Given the description of an element on the screen output the (x, y) to click on. 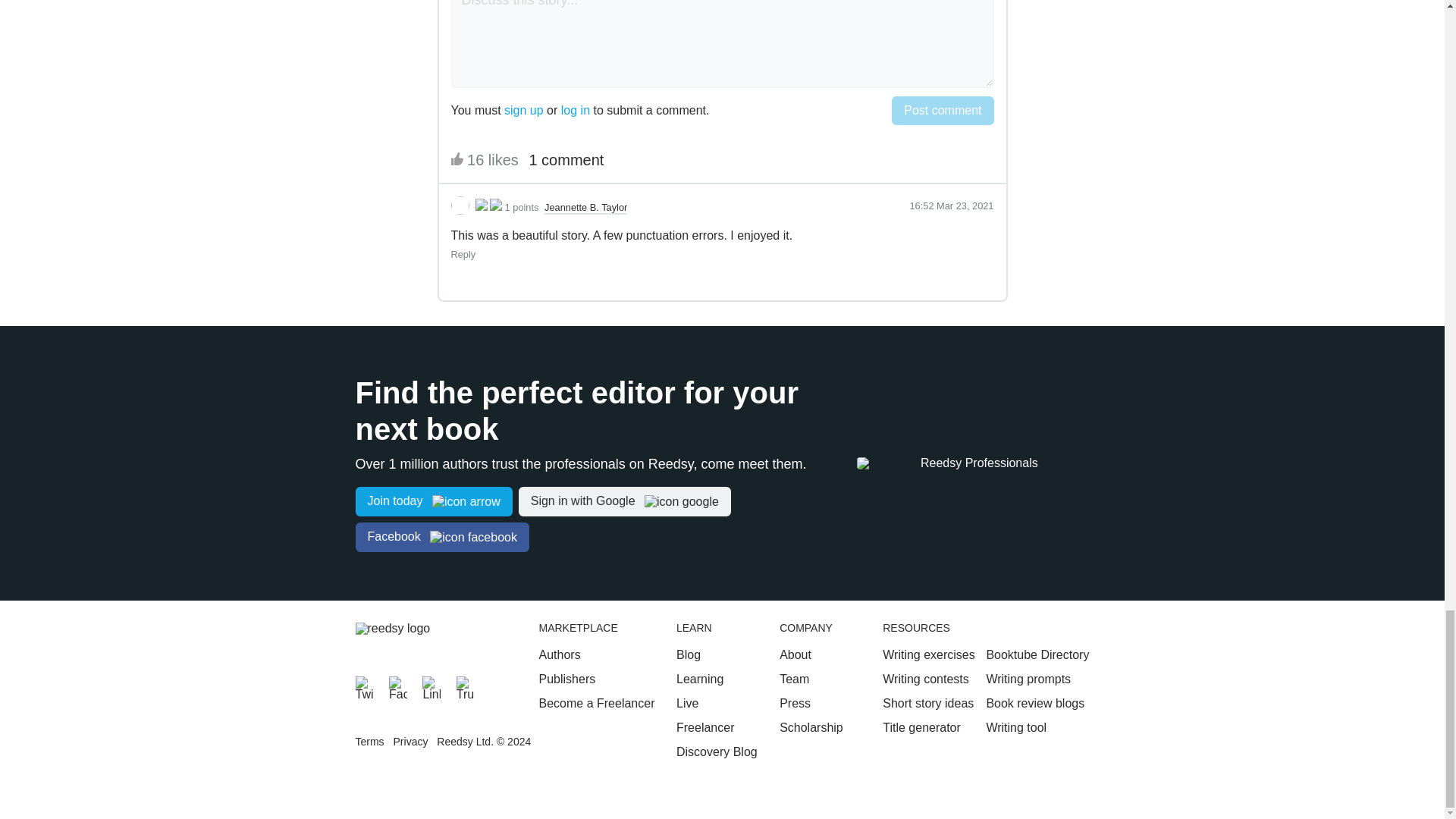
Sign in with Facebook (441, 537)
Facebook (397, 685)
Trustpilot (465, 685)
LinkedIn (431, 685)
Twitter (363, 685)
Sign in with Google (624, 501)
Post comment (941, 110)
Sign up (433, 501)
